Given the description of an element on the screen output the (x, y) to click on. 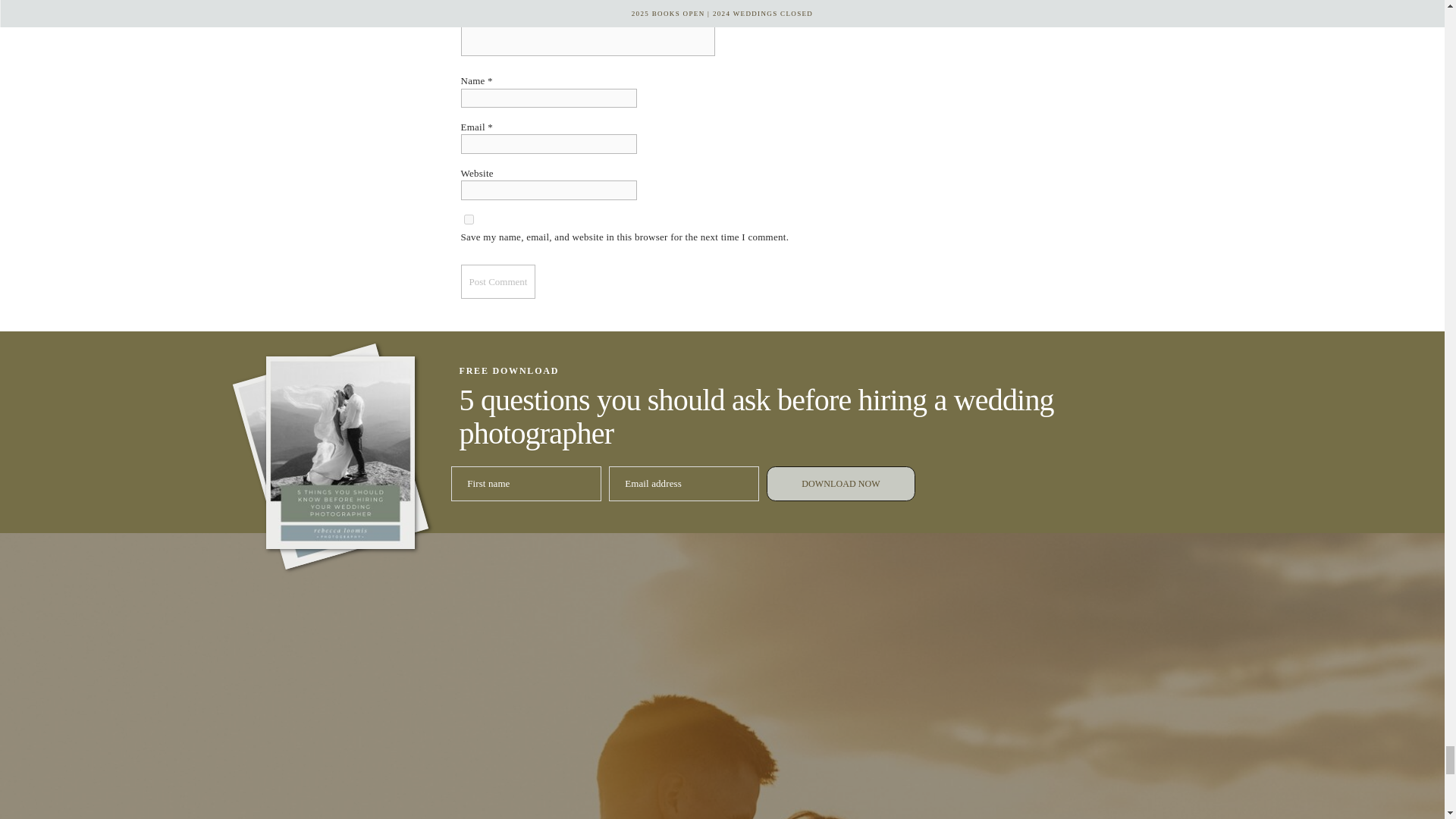
Post Comment (498, 281)
yes (469, 219)
DOWNLOAD NOW (841, 483)
Post Comment (498, 281)
